Given the description of an element on the screen output the (x, y) to click on. 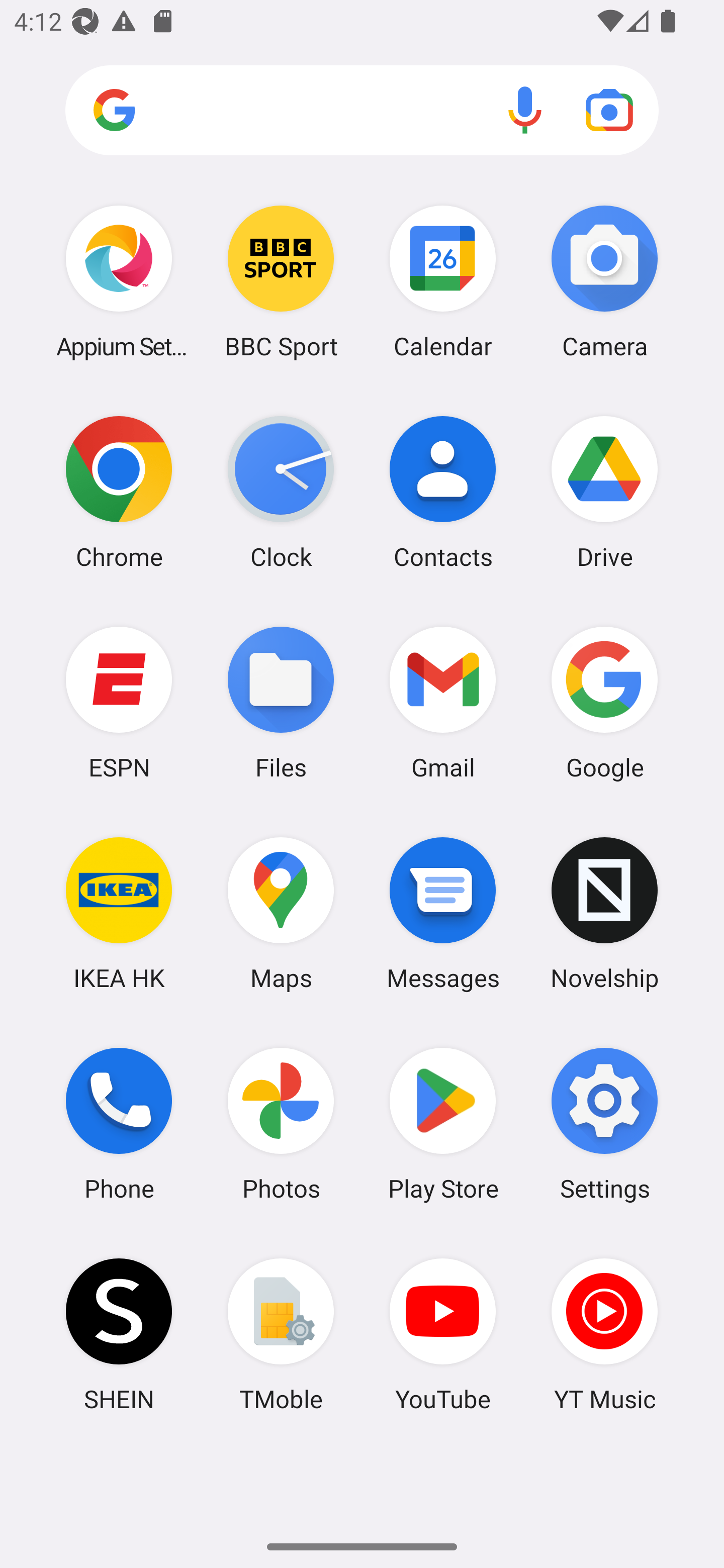
Search apps, web and more (361, 110)
Voice search (524, 109)
Google Lens (608, 109)
Appium Settings (118, 281)
BBC Sport (280, 281)
Calendar (443, 281)
Camera (604, 281)
Chrome (118, 492)
Clock (280, 492)
Contacts (443, 492)
Drive (604, 492)
ESPN (118, 702)
Files (280, 702)
Gmail (443, 702)
Google (604, 702)
IKEA HK (118, 913)
Maps (280, 913)
Messages (443, 913)
Novelship (604, 913)
Phone (118, 1124)
Photos (280, 1124)
Play Store (443, 1124)
Settings (604, 1124)
SHEIN (118, 1334)
TMoble (280, 1334)
YouTube (443, 1334)
YT Music (604, 1334)
